Given the description of an element on the screen output the (x, y) to click on. 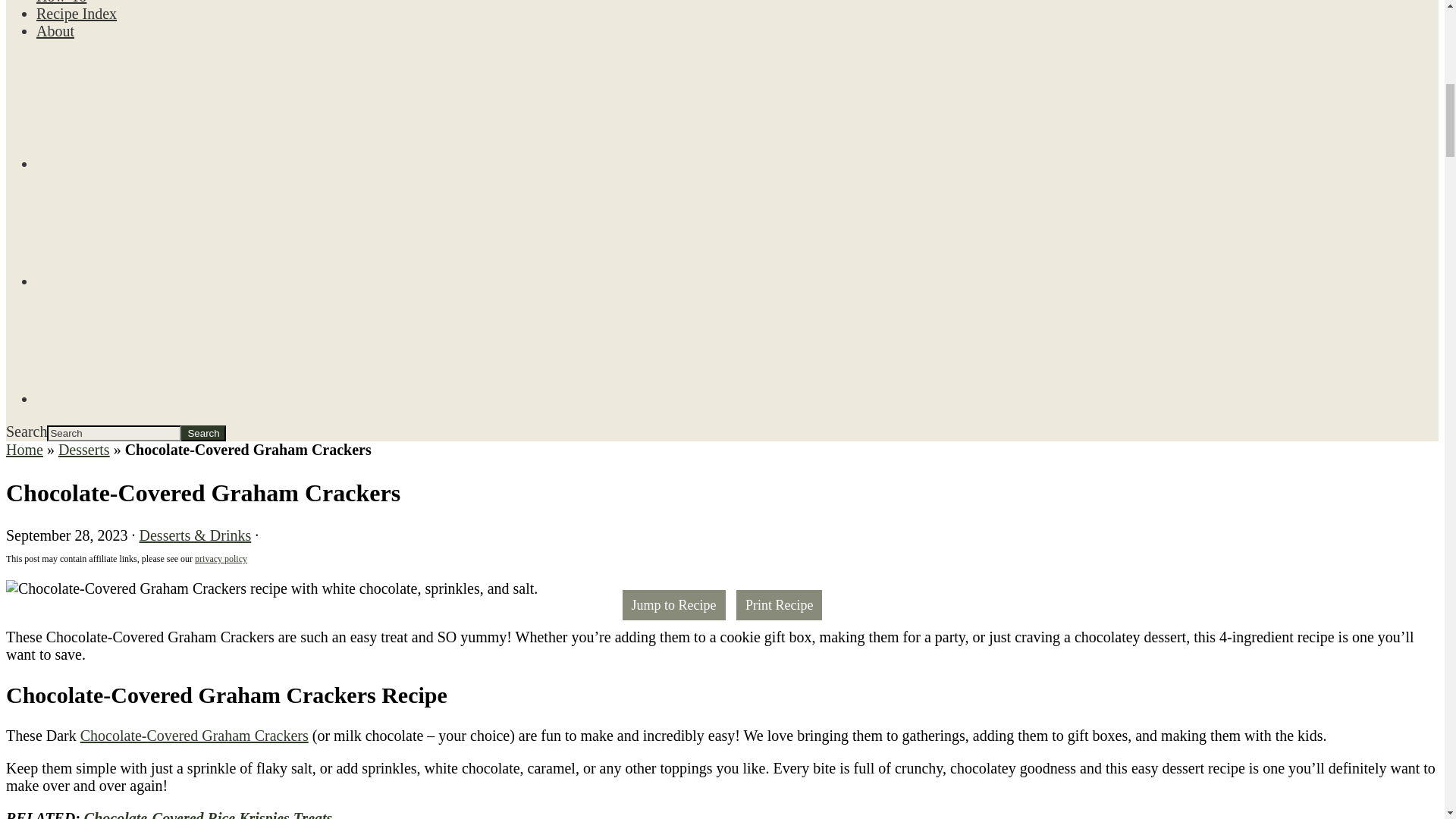
Home (24, 449)
How-To (60, 2)
Instagram (156, 229)
Search (202, 433)
Pinterest (156, 347)
privacy policy (221, 558)
Facebook (157, 164)
Search (202, 433)
Print Recipe (779, 604)
Recipe Index (76, 13)
Facebook (156, 111)
Instagram (157, 281)
Chocolate-Covered Rice Krispies Treats (208, 814)
About (55, 30)
Desserts (84, 449)
